Given the description of an element on the screen output the (x, y) to click on. 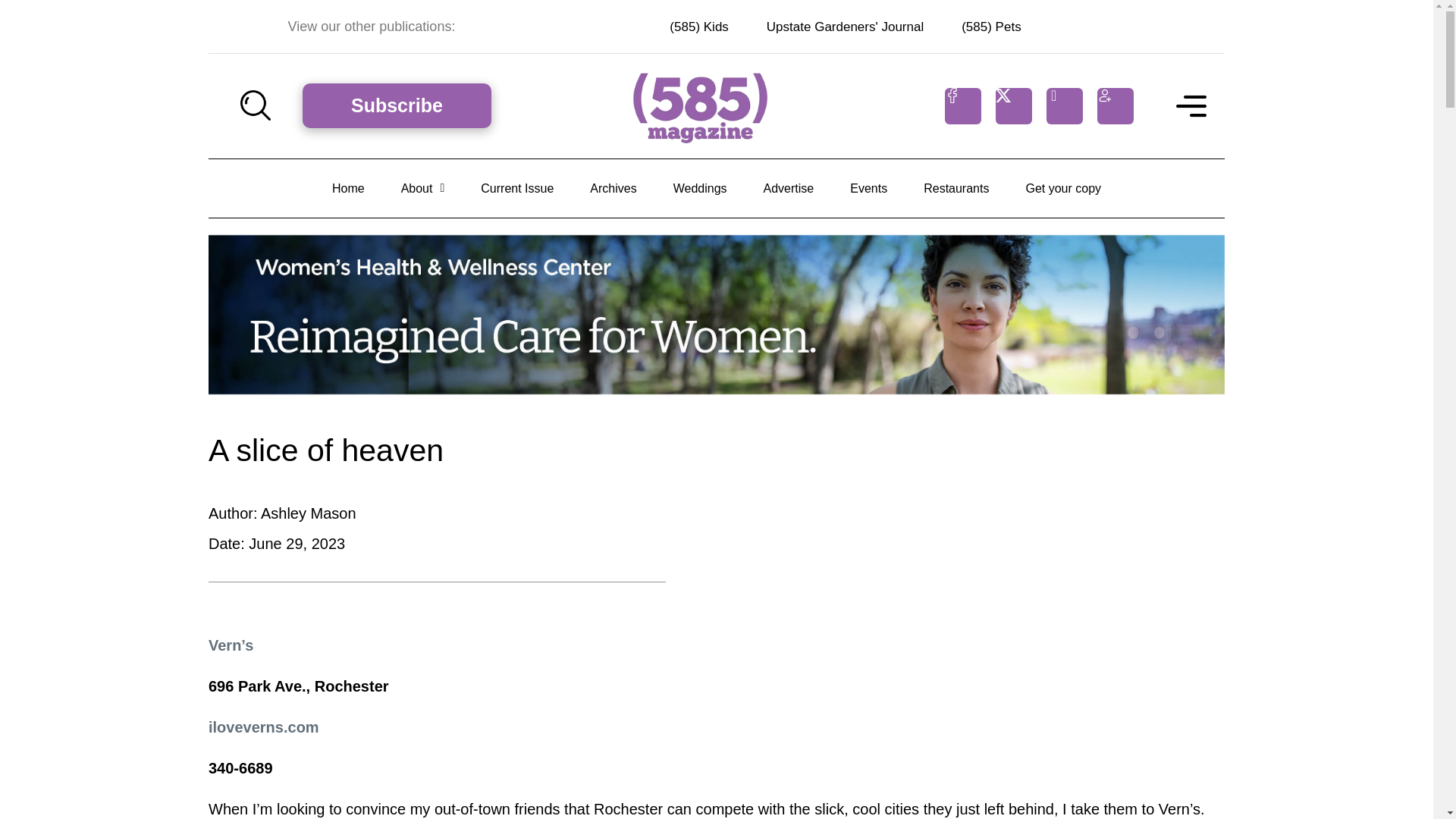
Upstate Gardeners' Journal (845, 26)
